Given the description of an element on the screen output the (x, y) to click on. 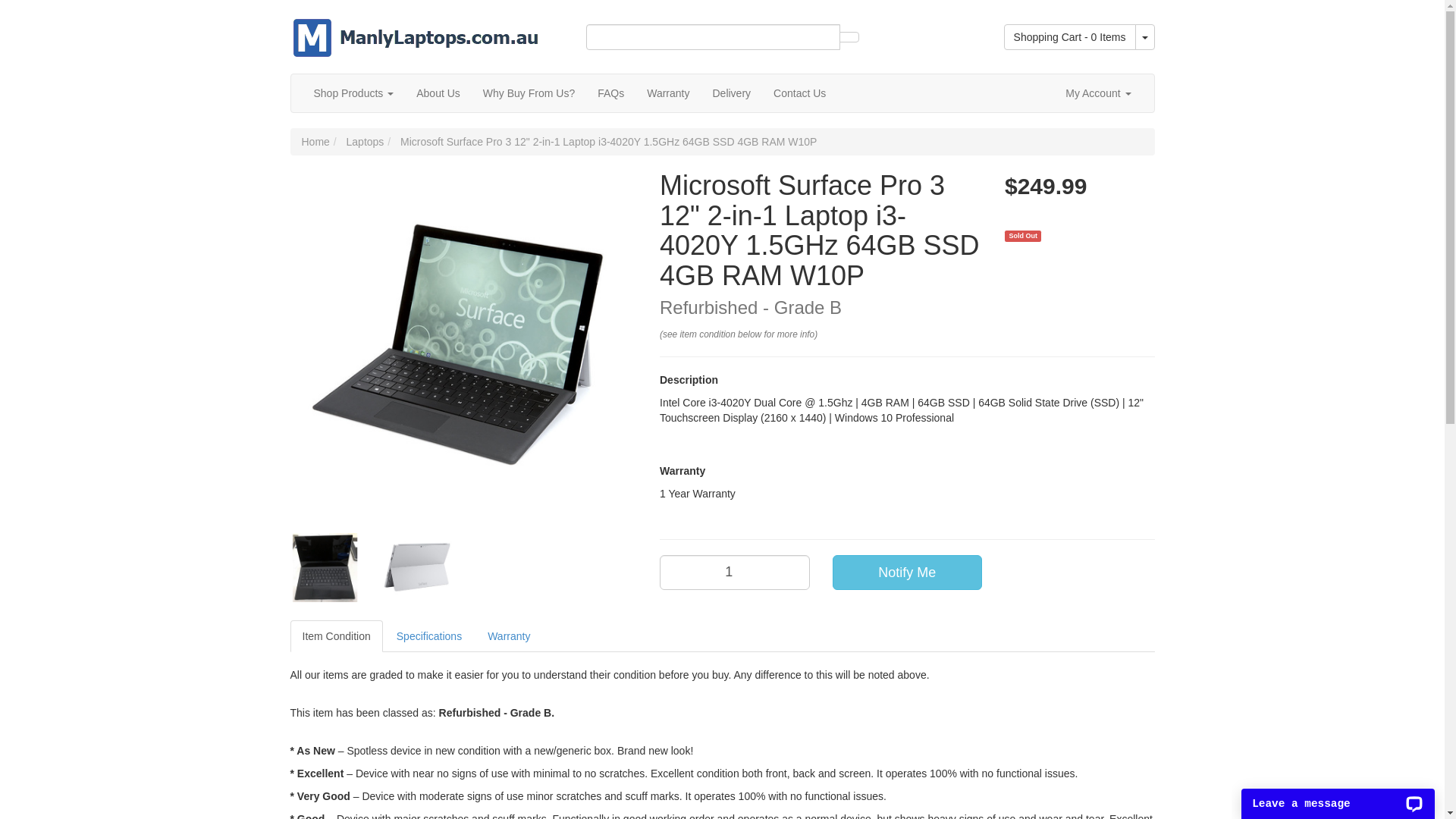
Laptops Element type: text (365, 141)
Search Element type: text (848, 36)
Why Buy From Us? Element type: text (528, 93)
Notify Me Element type: text (907, 572)
Manly Laptops Element type: hover (414, 27)
Specifications Element type: text (428, 636)
About Us Element type: text (437, 93)
Warranty Element type: text (508, 636)
FAQs Element type: text (610, 93)
Item Condition Element type: text (335, 636)
Delivery Element type: text (731, 93)
Warranty Element type: text (667, 93)
Shopping Cart - 0 Items Element type: text (1069, 37)
Home Element type: text (315, 141)
My Account Element type: text (1098, 93)
Shop Products Element type: text (352, 93)
Contact Us Element type: text (799, 93)
Large View Element type: hover (416, 567)
Large View Element type: hover (324, 567)
